Given the description of an element on the screen output the (x, y) to click on. 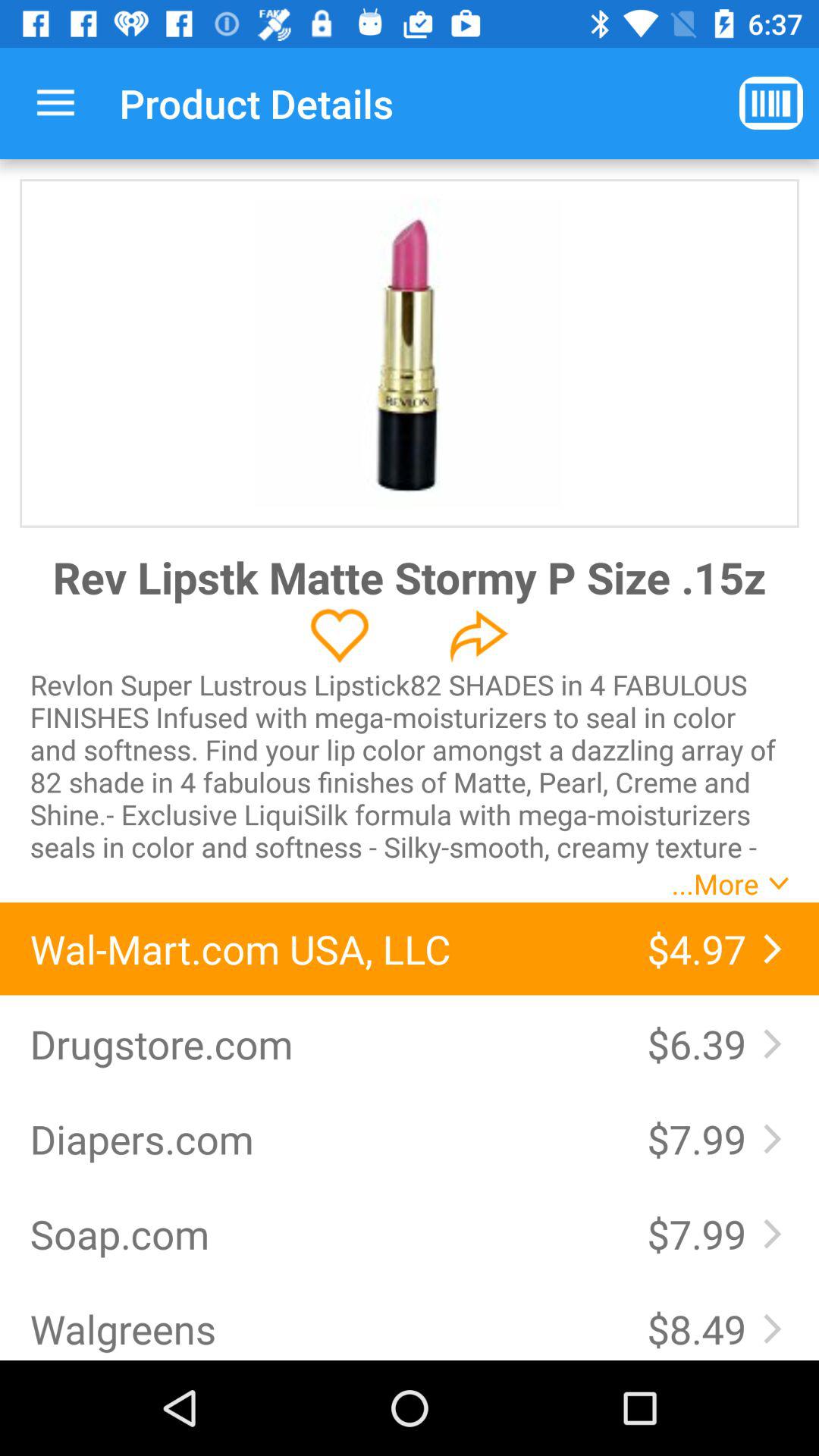
select icon to the left of the $4.97 (323, 948)
